Given the description of an element on the screen output the (x, y) to click on. 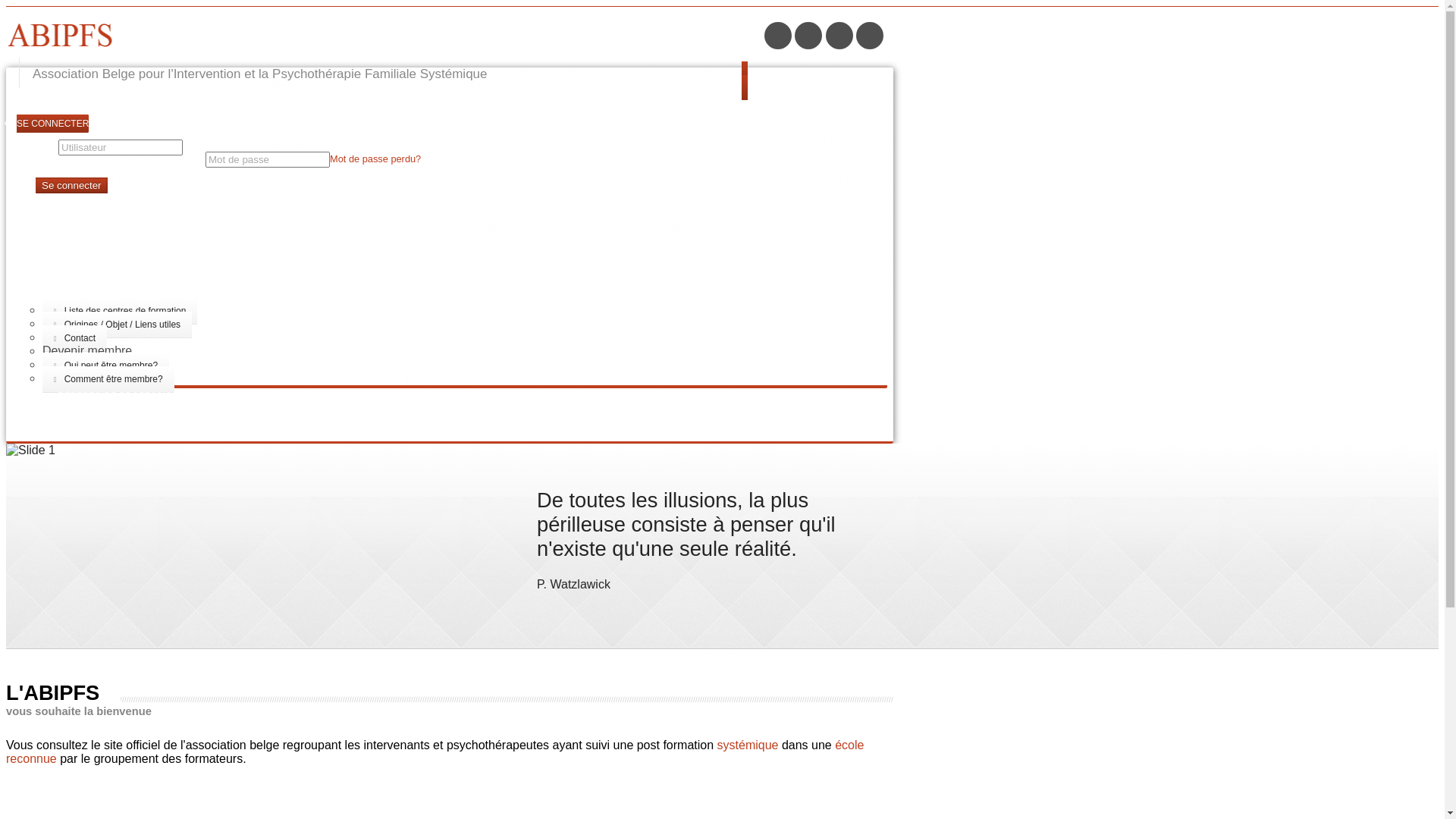
S'INSCRIRE Element type: text (83, 423)
INFORMATIONS Element type: text (92, 295)
Home Element type: hover (373, 35)
SE CONNECTER Element type: text (52, 123)
Liste des centres de formation Element type: text (119, 311)
RECHERCHE Element type: text (86, 409)
Mot de passe perdu? Element type: text (374, 158)
Se connecter Element type: text (71, 185)
Origines / Objet / Liens utiles Element type: text (116, 324)
Contact Element type: text (74, 338)
AGENDA Element type: text (77, 282)
